Given the description of an element on the screen output the (x, y) to click on. 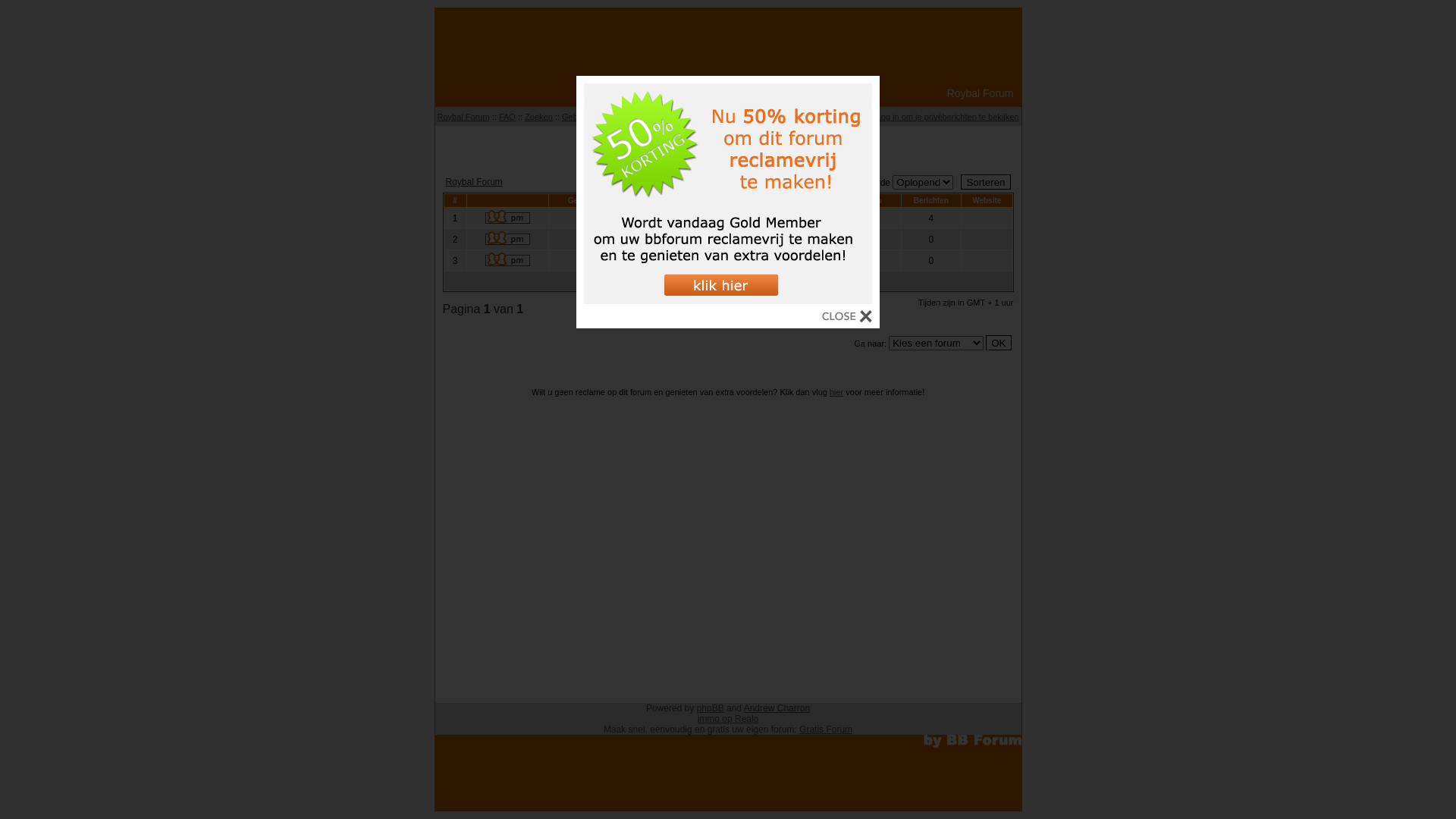
Viraal Nieuws Element type: text (727, 144)
Andrew Charron Element type: text (776, 707)
Ropt Element type: text (597, 238)
Inloggen Element type: text (818, 116)
klik voor meer informatie Element type: hover (727, 299)
phpBB Element type: text (710, 707)
Fopt Element type: text (597, 259)
consavibe Element type: text (597, 217)
sluiten Element type: hover (847, 318)
E-mail versturen Element type: hover (687, 216)
Roybal Forum Element type: text (463, 116)
immo op Realo Element type: text (728, 718)
OK Element type: text (997, 342)
Profiel Element type: text (854, 116)
E-mail versturen Element type: hover (687, 237)
Sorteren Element type: text (985, 181)
Registreren Element type: text (771, 116)
E-mail versturen Element type: hover (687, 259)
hier Element type: text (836, 391)
Roybal Forum Element type: text (473, 181)
FAQ Element type: text (506, 116)
Gebruikerslijst Element type: text (588, 116)
Gebruikersgroepen Element type: text (659, 116)
Gratis Forum Element type: text (825, 729)
Zoeken Element type: text (538, 116)
